Given the description of an element on the screen output the (x, y) to click on. 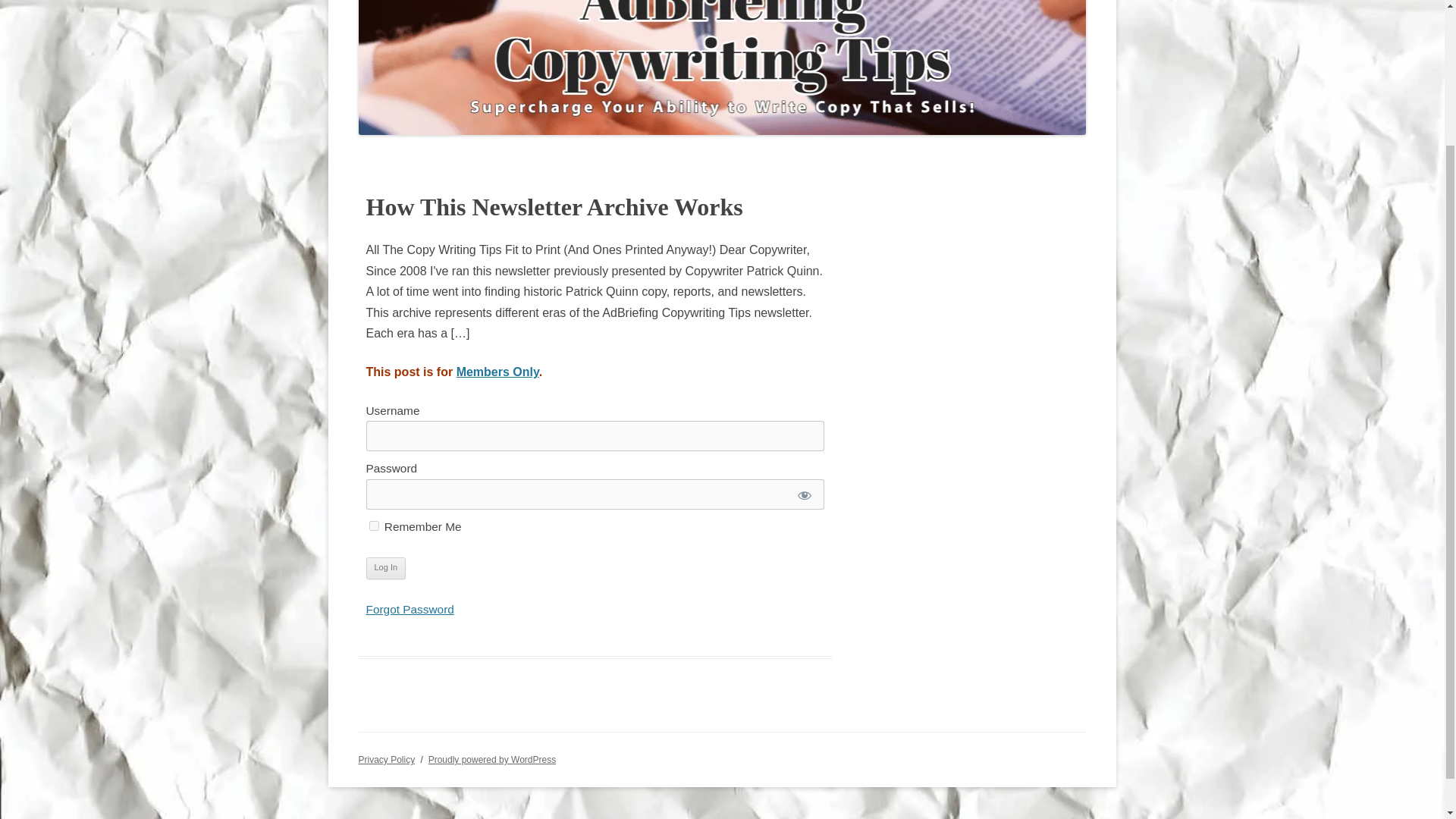
Log In (385, 567)
Forgot Password (408, 608)
forever (373, 525)
Members Only (497, 371)
Privacy Policy (386, 759)
Log In (385, 567)
Proudly powered by WordPress (492, 759)
Semantic Personal Publishing Platform (492, 759)
